Given the description of an element on the screen output the (x, y) to click on. 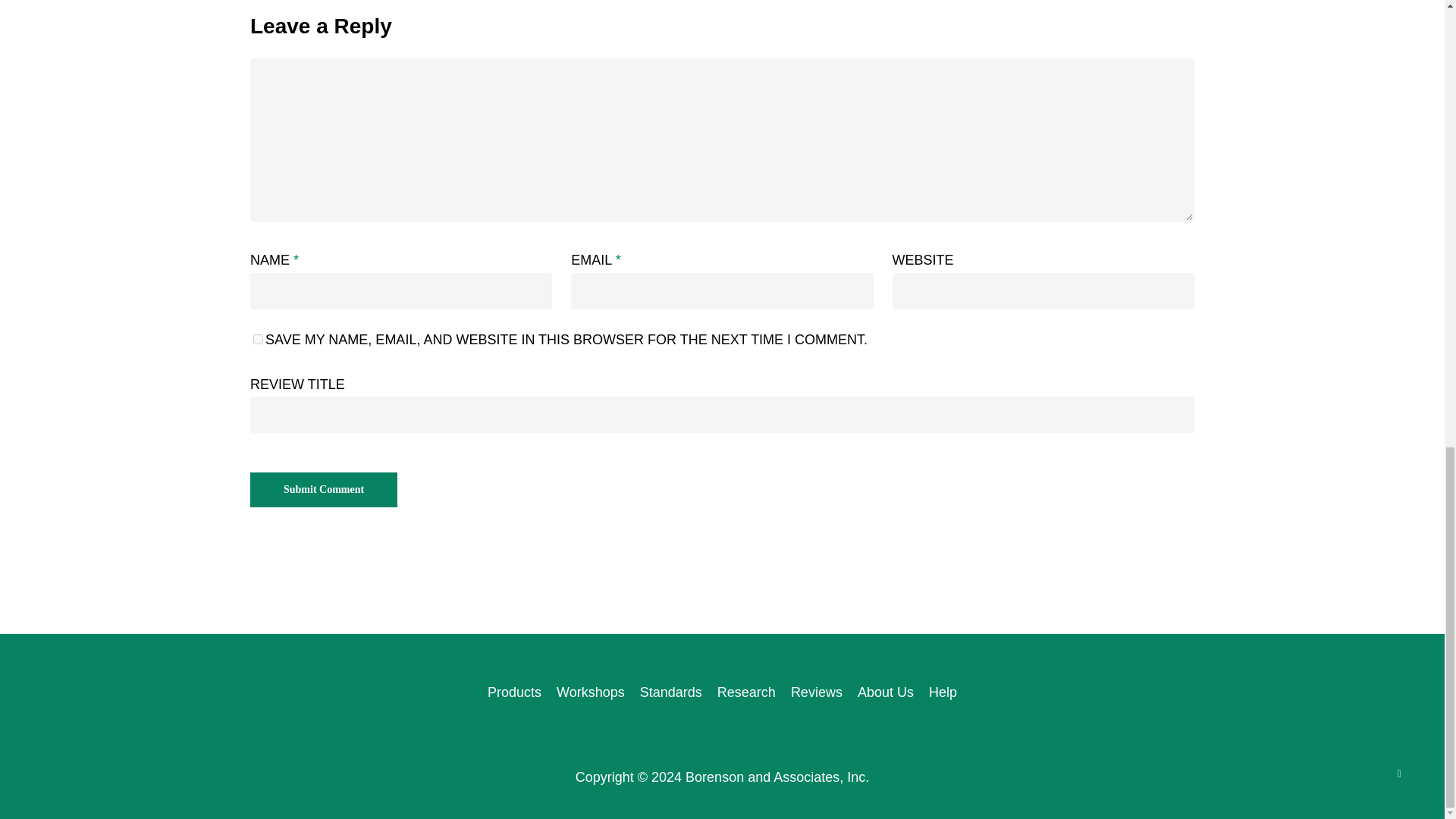
Research (746, 692)
Submit Comment (323, 489)
Standards (670, 692)
yes (258, 338)
Workshops (589, 692)
Reviews (816, 692)
Products (514, 692)
Help (942, 692)
Submit Comment (323, 489)
About Us (885, 692)
